Given the description of an element on the screen output the (x, y) to click on. 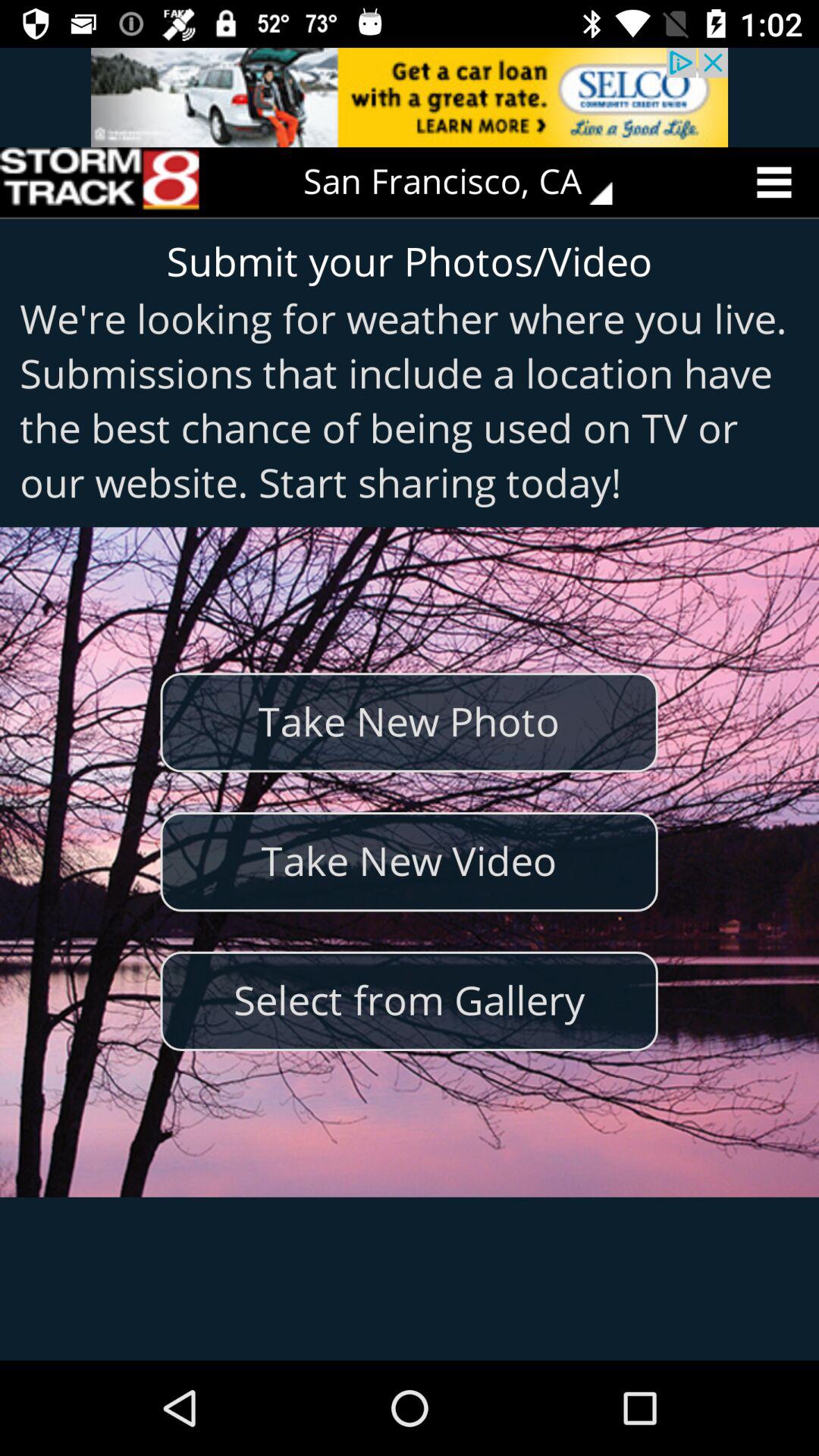
press the icon next to san francisco, ca icon (99, 182)
